Given the description of an element on the screen output the (x, y) to click on. 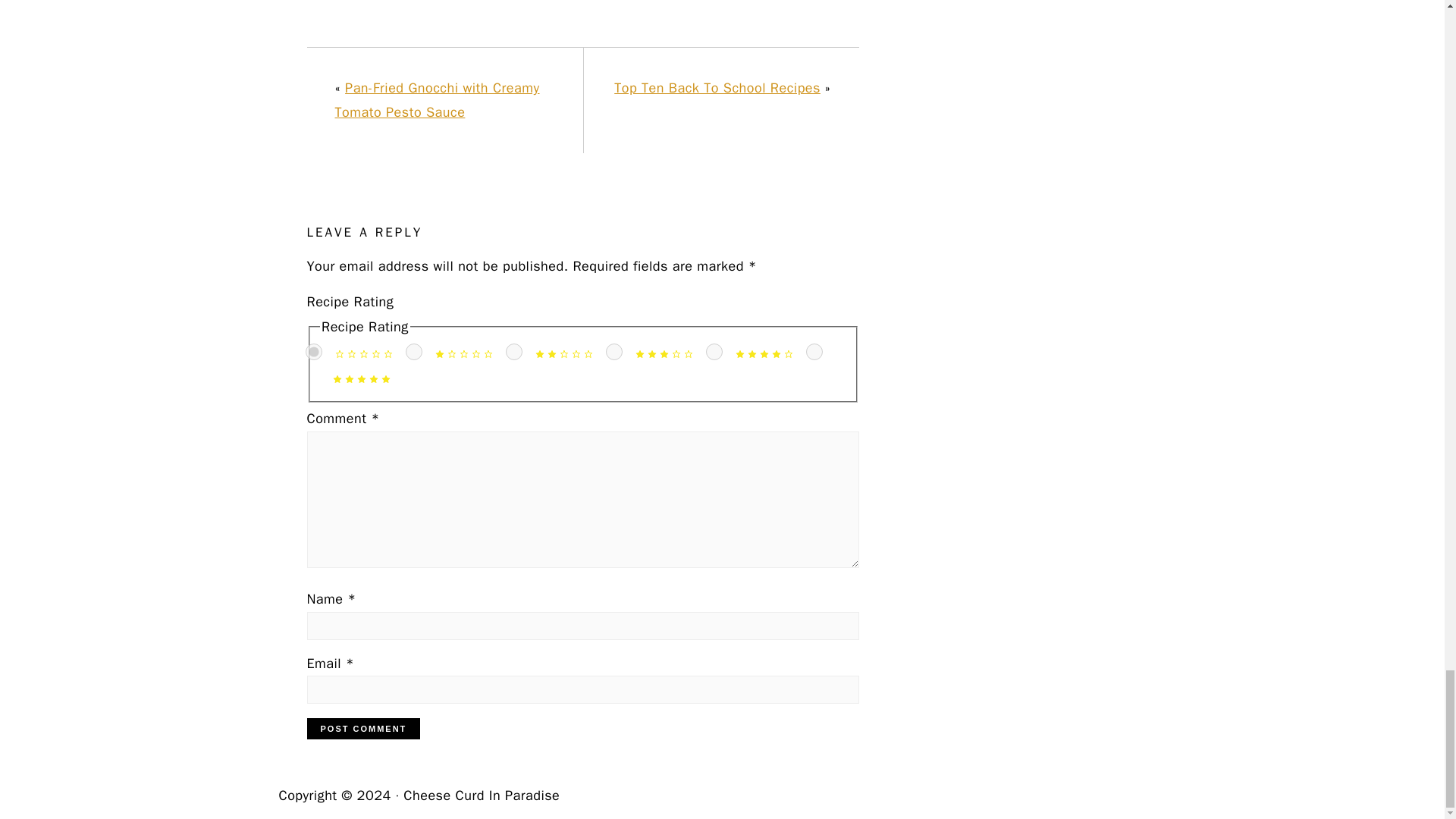
5 (814, 351)
0 (313, 351)
3 (614, 351)
2 (513, 351)
Post Comment (362, 728)
4 (714, 351)
1 (414, 351)
